Given the description of an element on the screen output the (x, y) to click on. 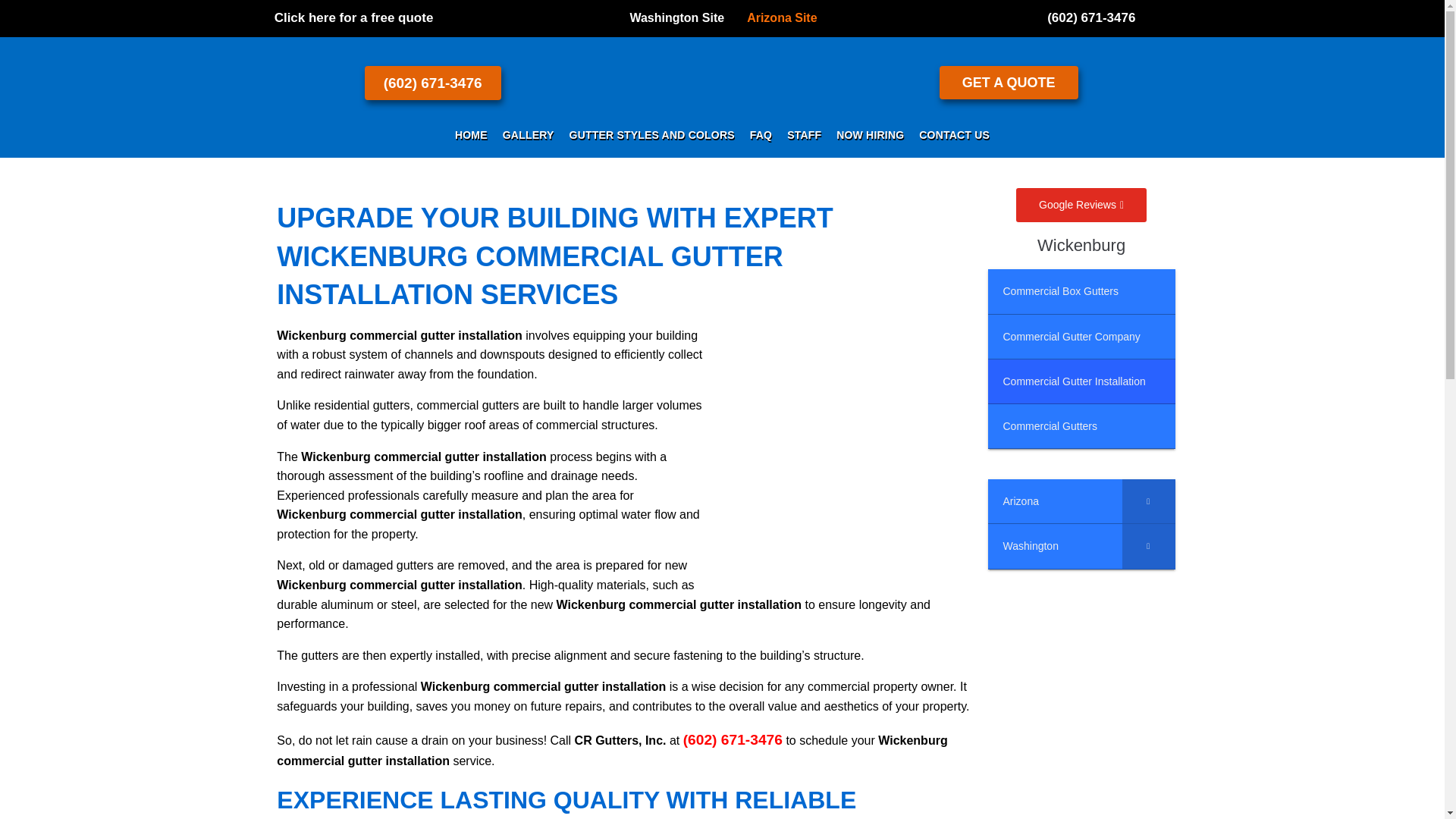
Click here for a free quote (354, 18)
Arizona Site (781, 18)
Washington Site (675, 18)
GET A QUOTE (1008, 82)
